Given the description of an element on the screen output the (x, y) to click on. 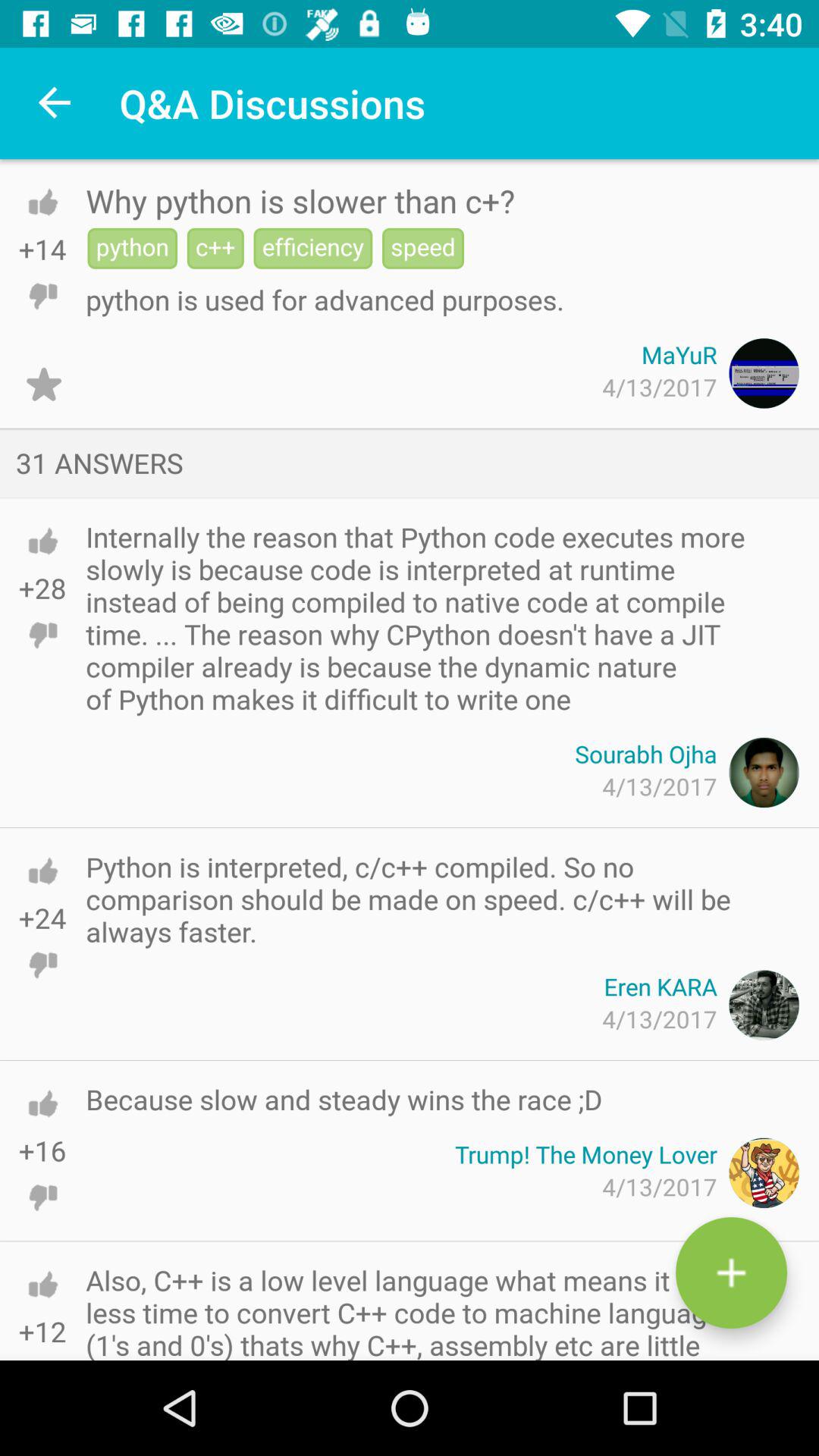
turn on the icon below 4/13/2017 icon (343, 1099)
